Given the description of an element on the screen output the (x, y) to click on. 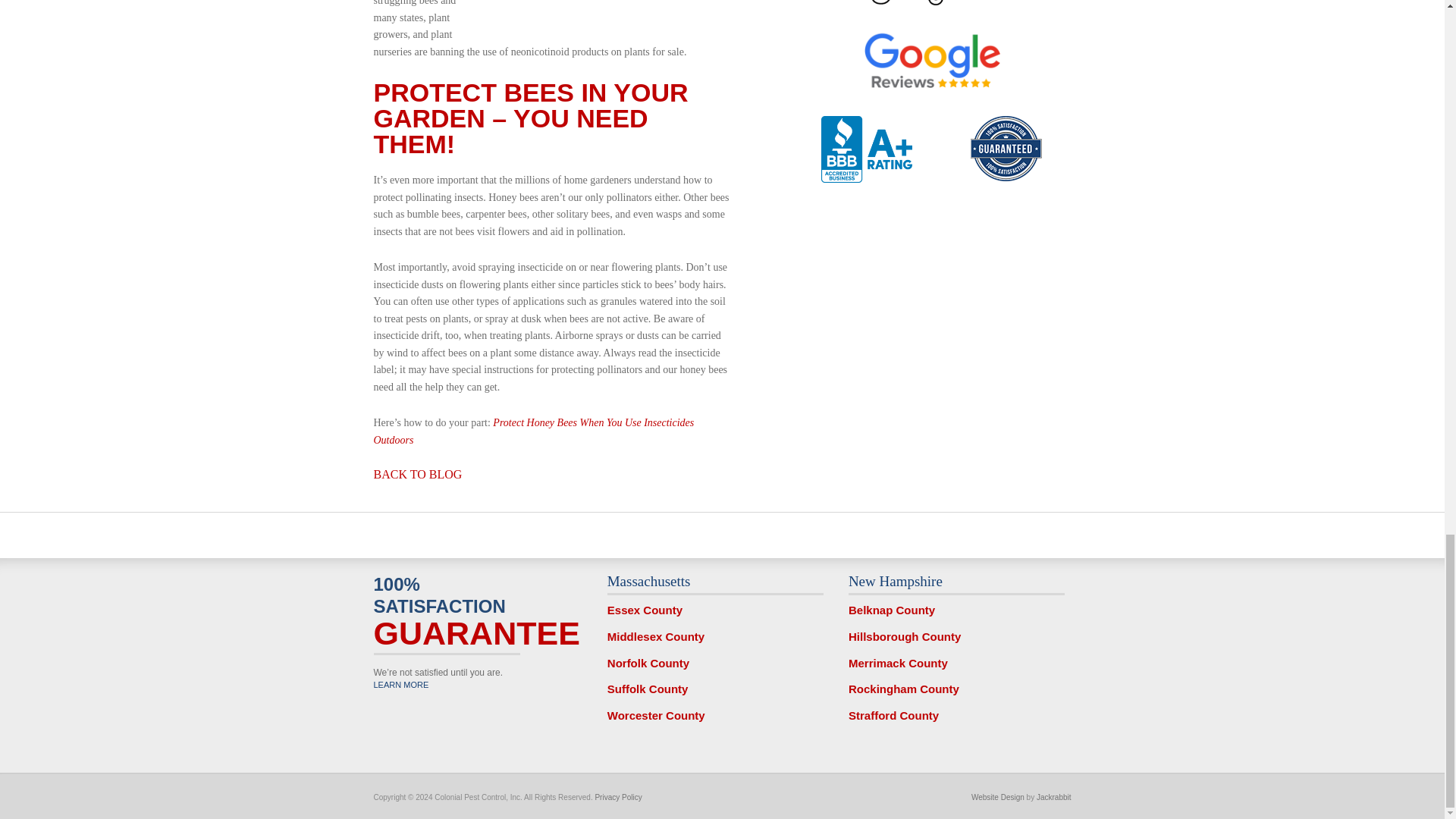
Website Design by Jackrabbit (998, 797)
Website Design by Jackrabbit (1053, 797)
